Given the description of an element on the screen output the (x, y) to click on. 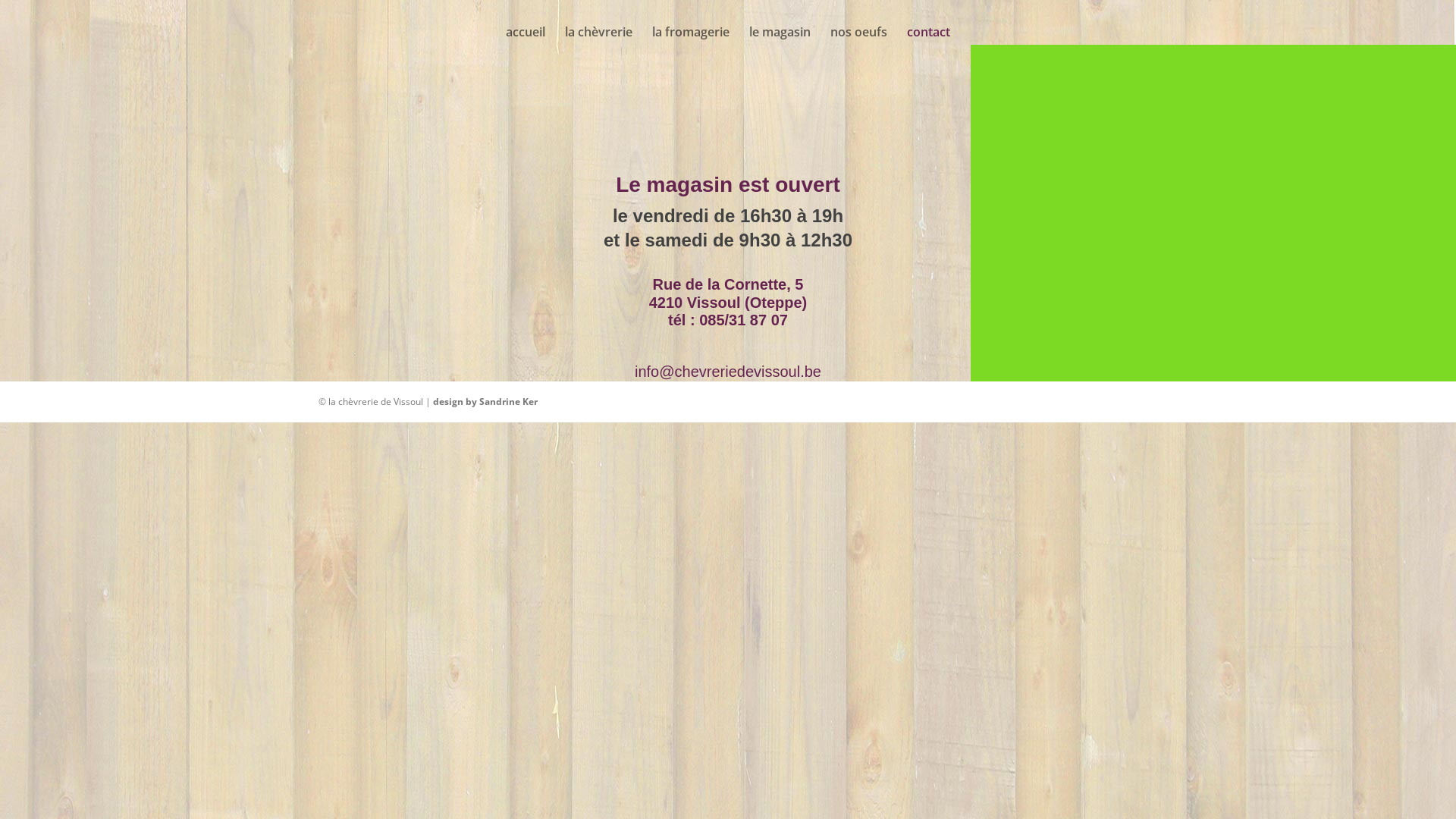
design by Sandrine Ker Element type: text (485, 401)
info@chevreriedevissoul.be Element type: text (727, 371)
contact Element type: text (928, 35)
le magasin Element type: text (779, 35)
la fromagerie Element type: text (690, 35)
nos oeufs Element type: text (858, 35)
accueil Element type: text (525, 35)
